Given the description of an element on the screen output the (x, y) to click on. 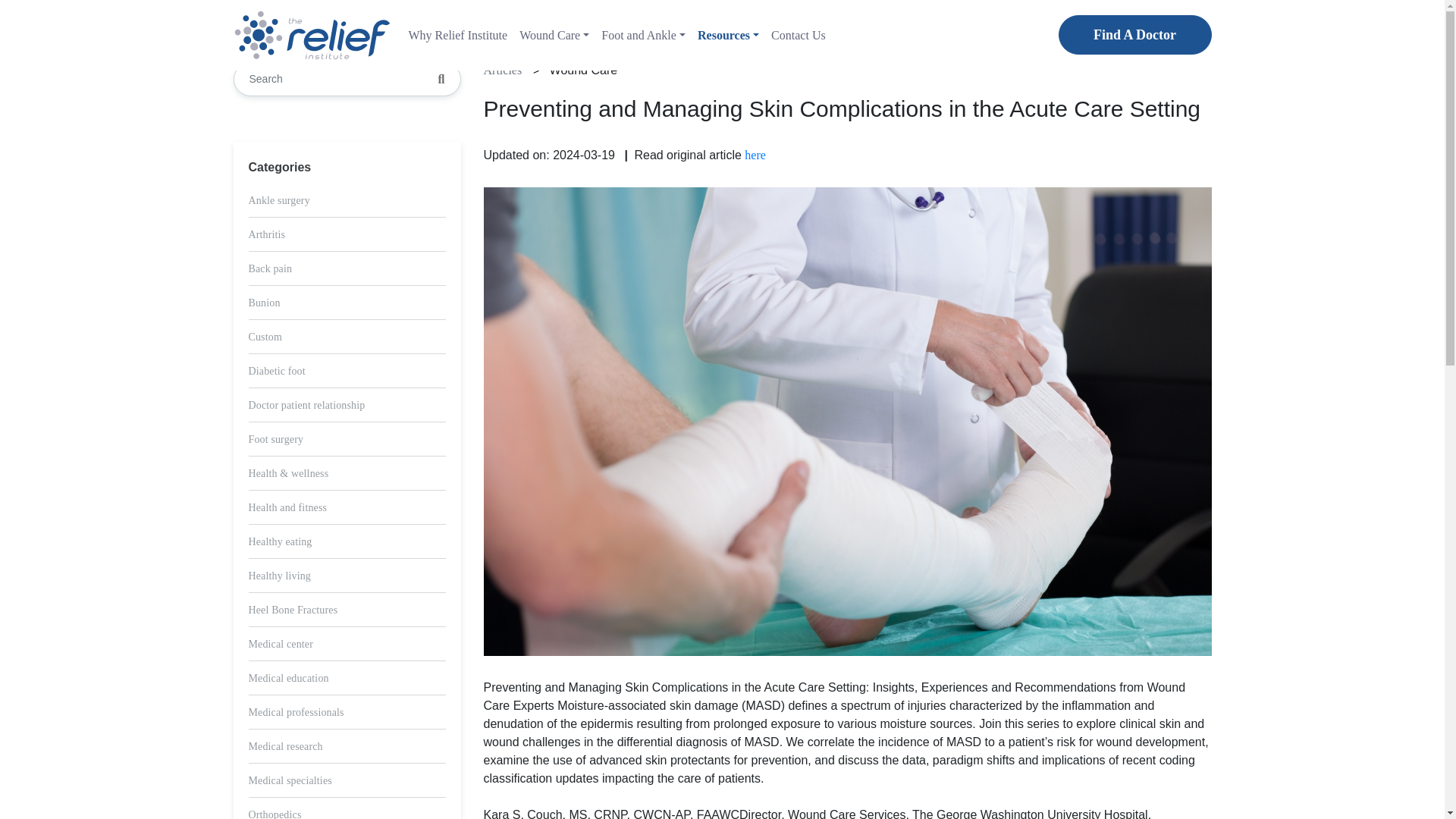
Heel Bone Fractures (292, 609)
Back pain (270, 268)
Doctor patient relationship (306, 405)
Diabetic foot (276, 370)
Resources (728, 34)
Foot surgery (276, 439)
Why Relief Institute (457, 34)
Healthy living (279, 575)
Wound Care (554, 34)
Ankle surgery (279, 200)
